Given the description of an element on the screen output the (x, y) to click on. 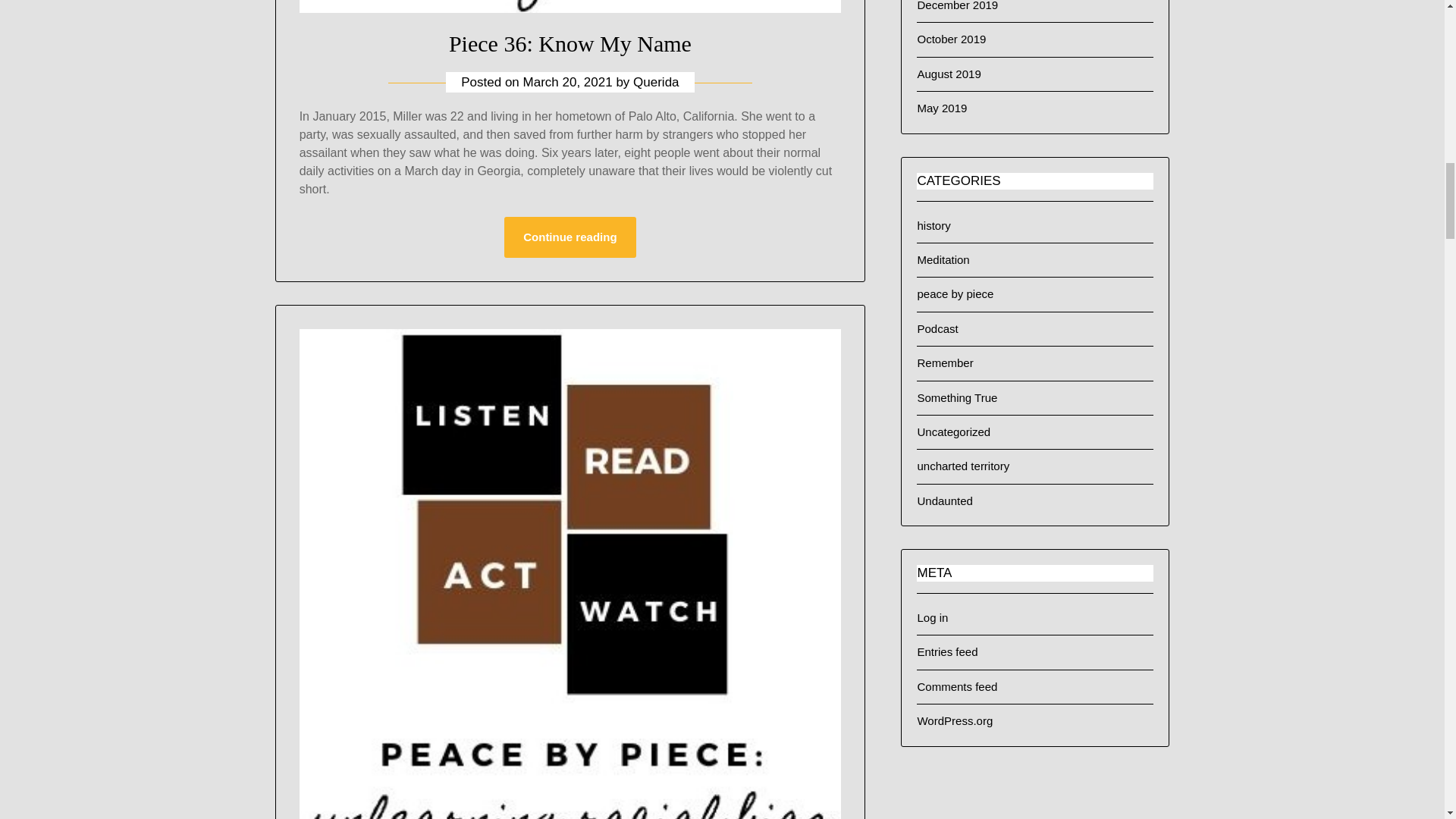
Querida (655, 82)
Piece 36: Know My Name (569, 43)
March 20, 2021 (567, 82)
Continue reading (568, 237)
